Given the description of an element on the screen output the (x, y) to click on. 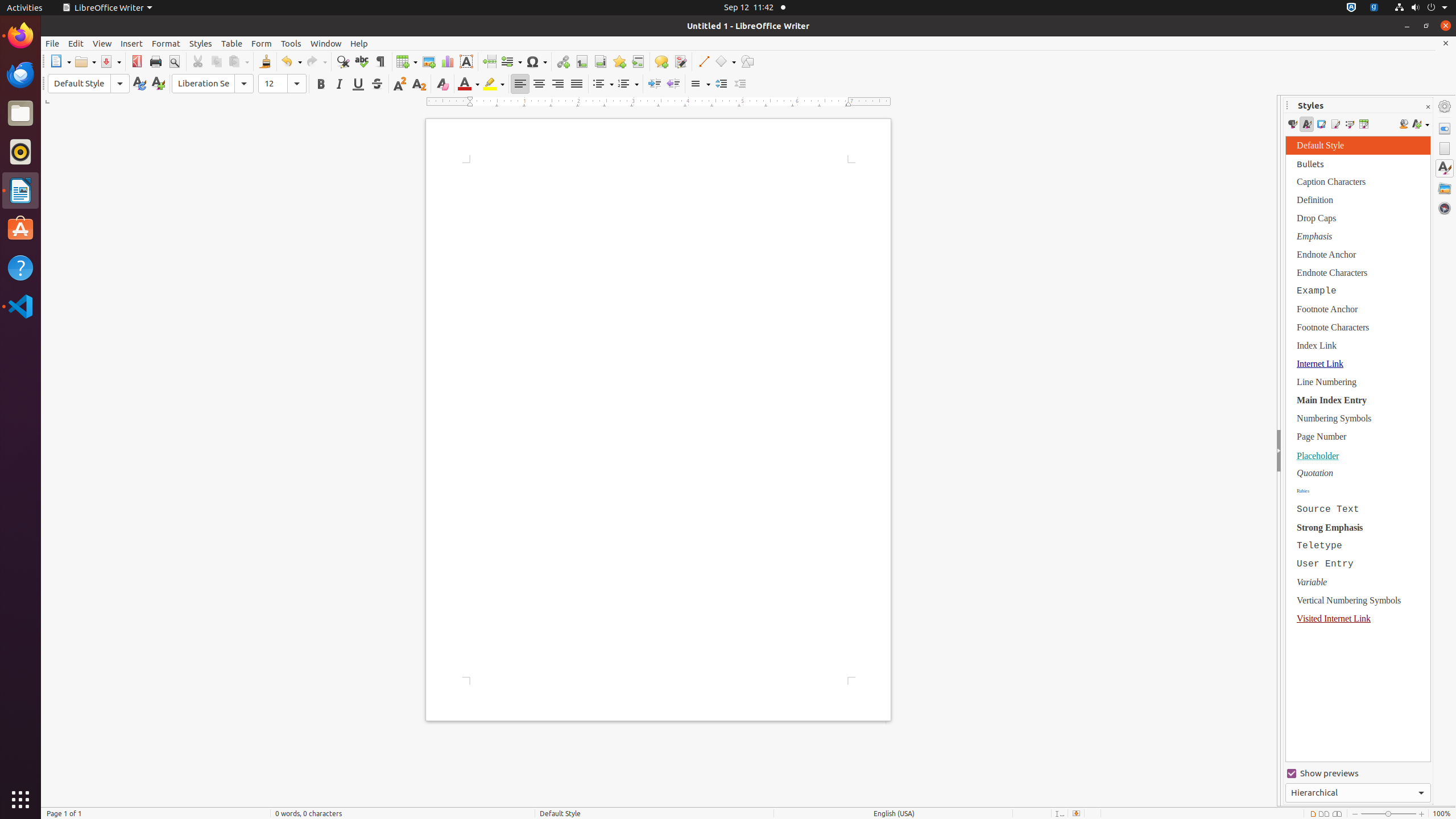
Edit Element type: menu (75, 43)
Justified Element type: toggle-button (576, 83)
Paragraph Style Element type: combo-box (88, 83)
System Element type: menu (1420, 7)
org.kde.StatusNotifierItem-14077-1 Element type: menu (1373, 7)
